Given the description of an element on the screen output the (x, y) to click on. 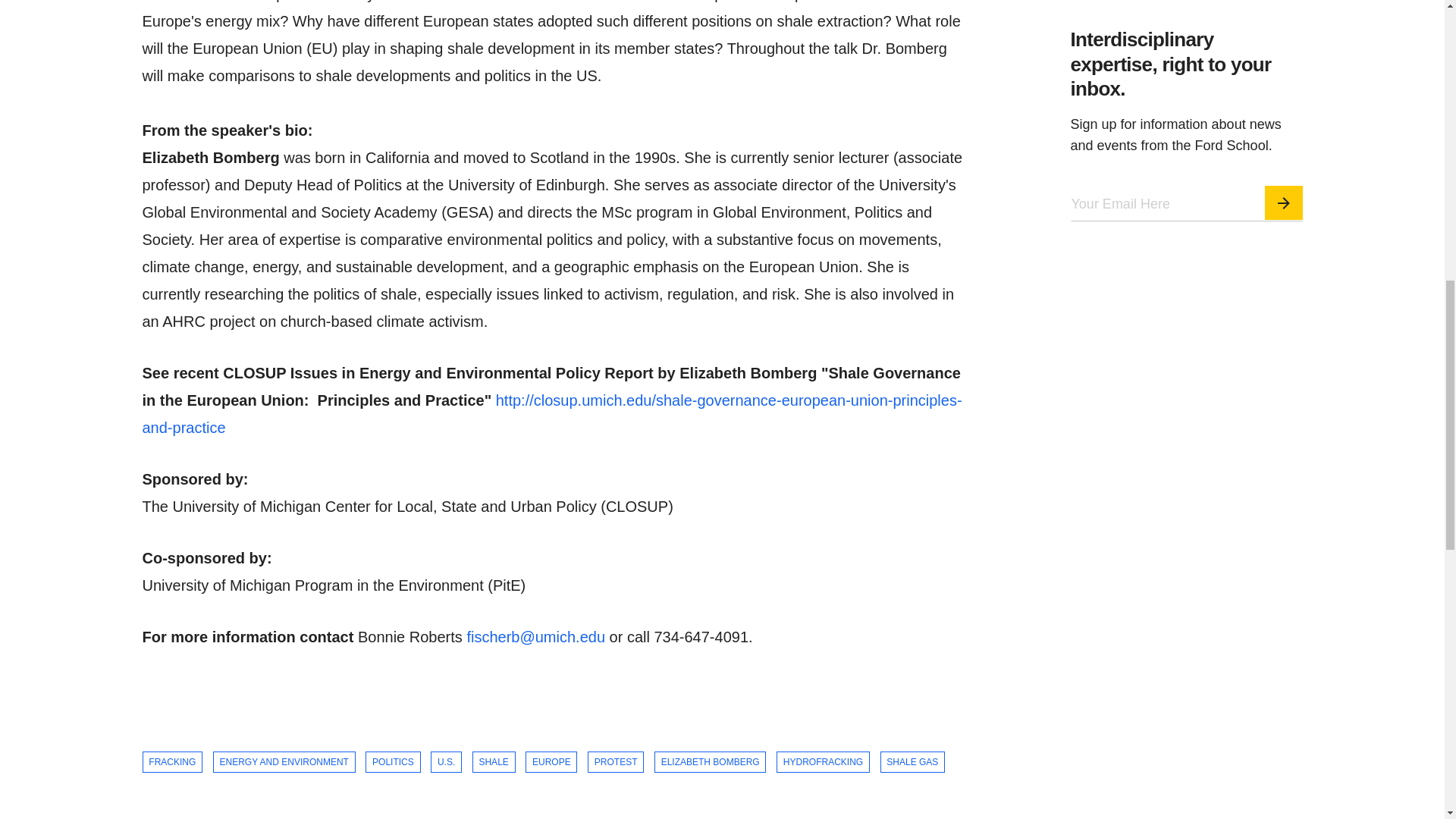
Subscribe (1284, 210)
